Given the description of an element on the screen output the (x, y) to click on. 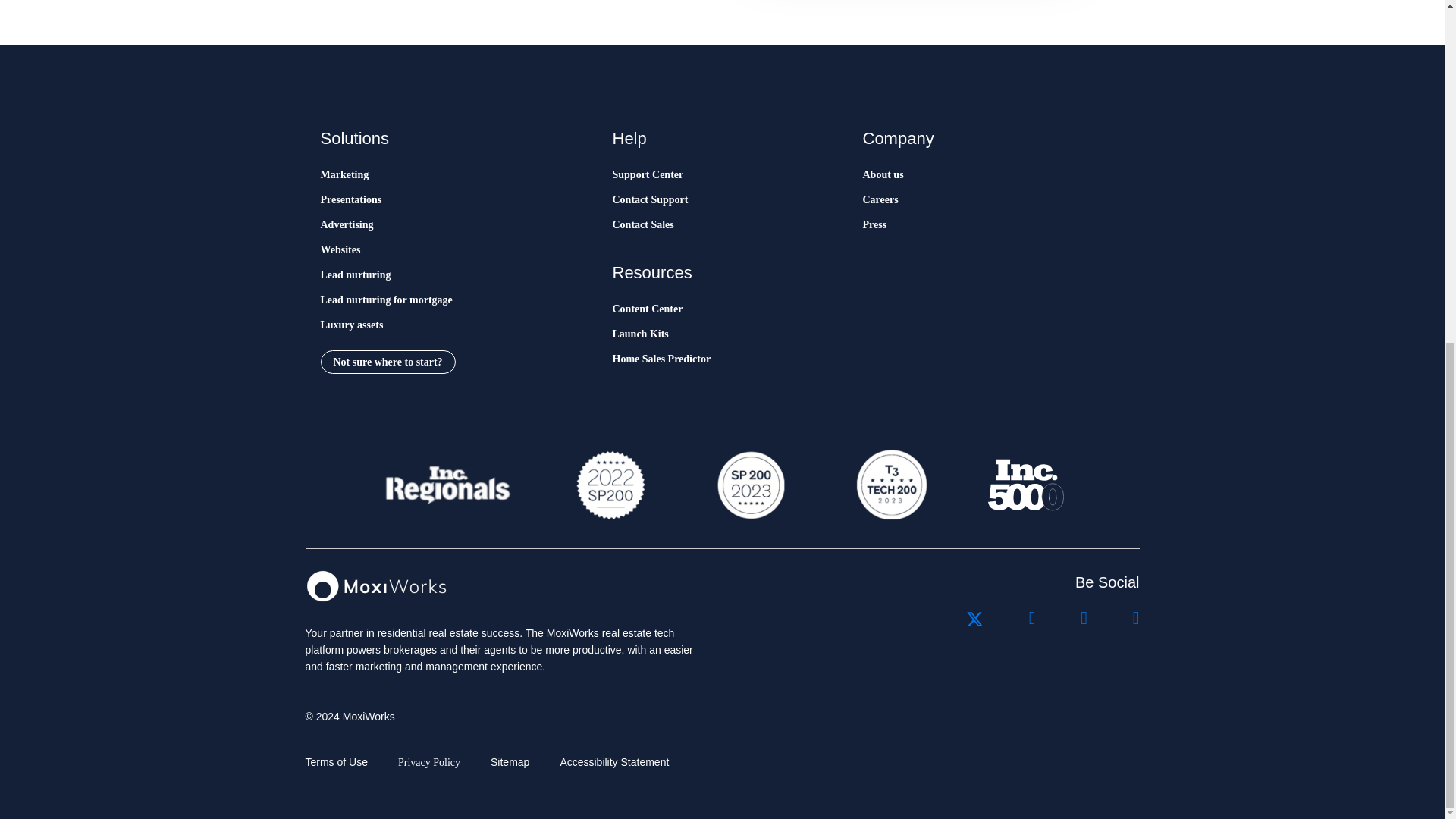
T3 tech 200 2023 (890, 484)
SP 2022 (610, 484)
SP 2023 (749, 484)
